Given the description of an element on the screen output the (x, y) to click on. 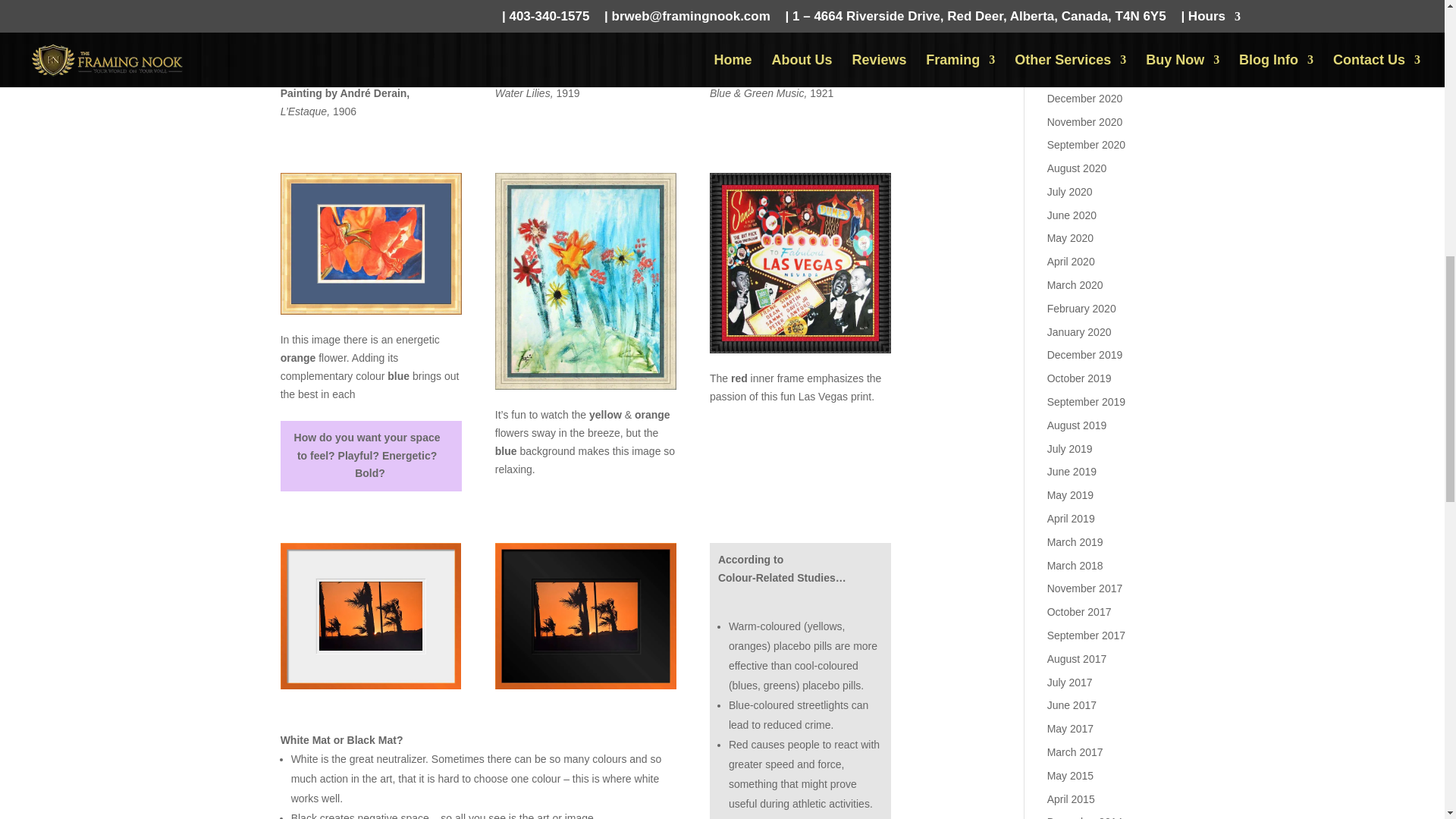
orangewhiteframe (371, 689)
blueorangeframe (371, 243)
bluebgframe (586, 280)
blackredframe (800, 262)
orangeblackframe (586, 689)
